Given the description of an element on the screen output the (x, y) to click on. 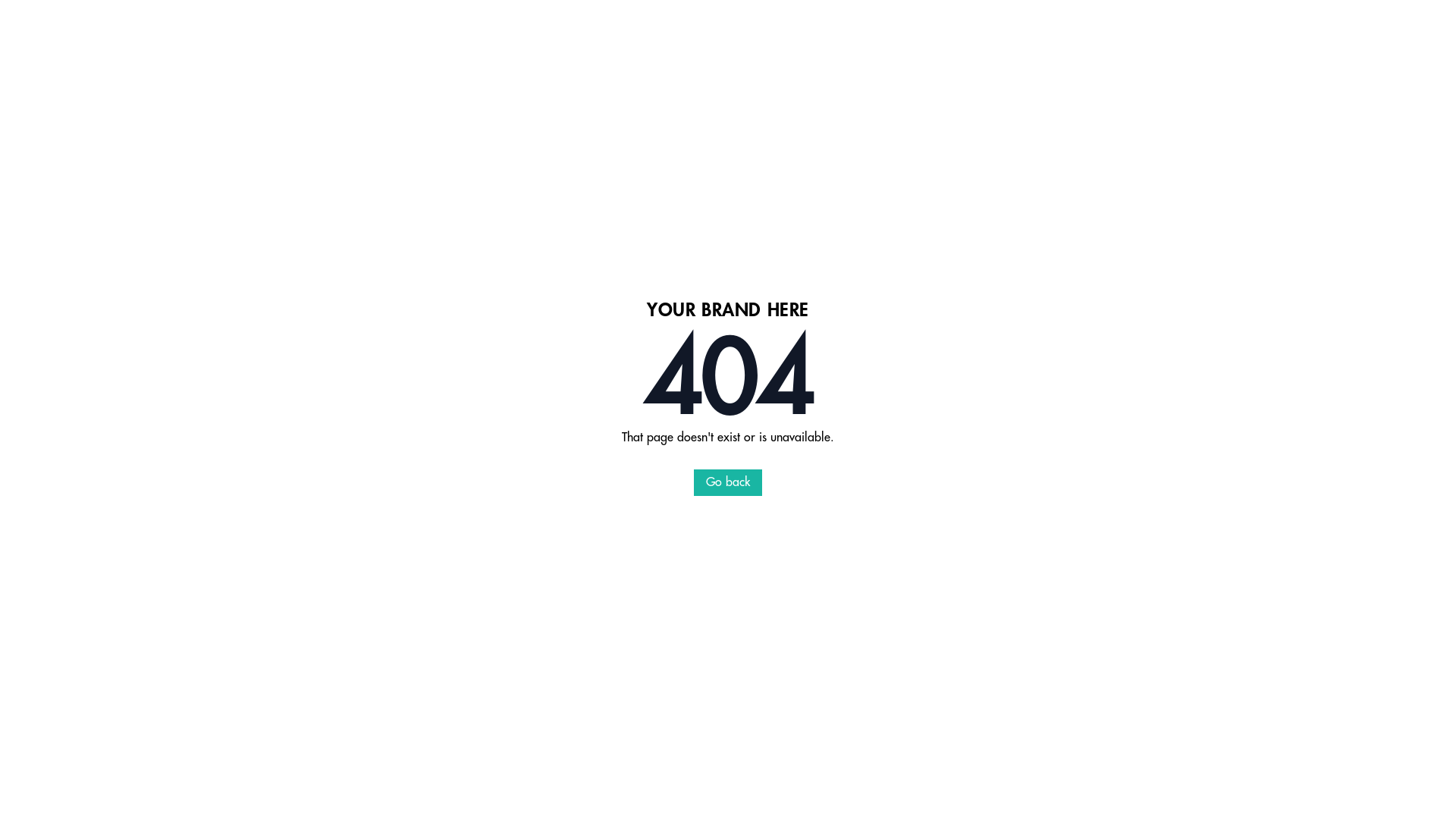
Go back Element type: text (727, 482)
